Given the description of an element on the screen output the (x, y) to click on. 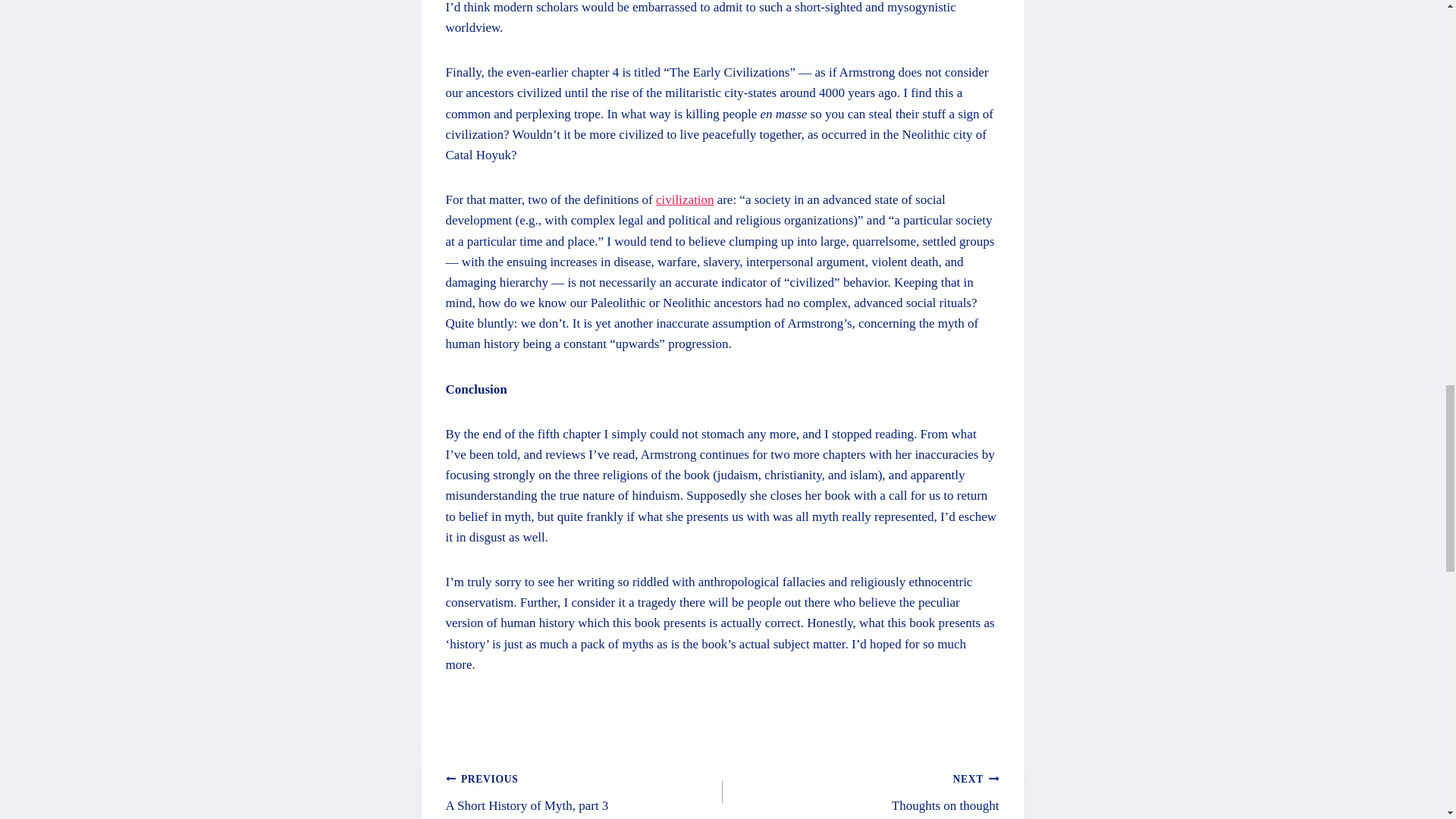
civilization (684, 199)
